Given the description of an element on the screen output the (x, y) to click on. 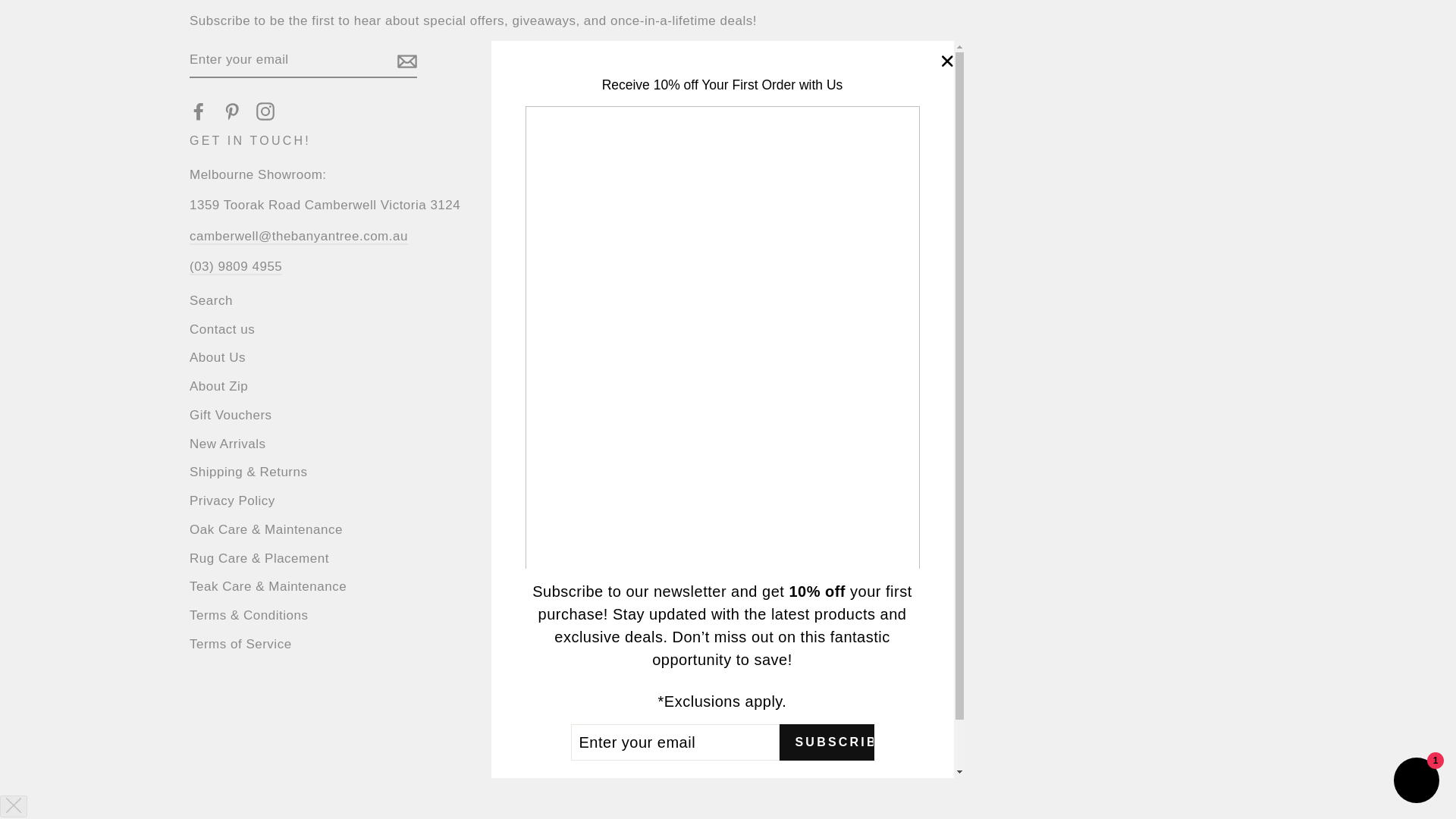
American Express (543, 701)
Shop Pay (747, 701)
Apple Pay (584, 701)
Visa (830, 701)
PayPal (707, 701)
Union Pay (789, 701)
Google Pay (625, 701)
Mastercard (665, 701)
